Given the description of an element on the screen output the (x, y) to click on. 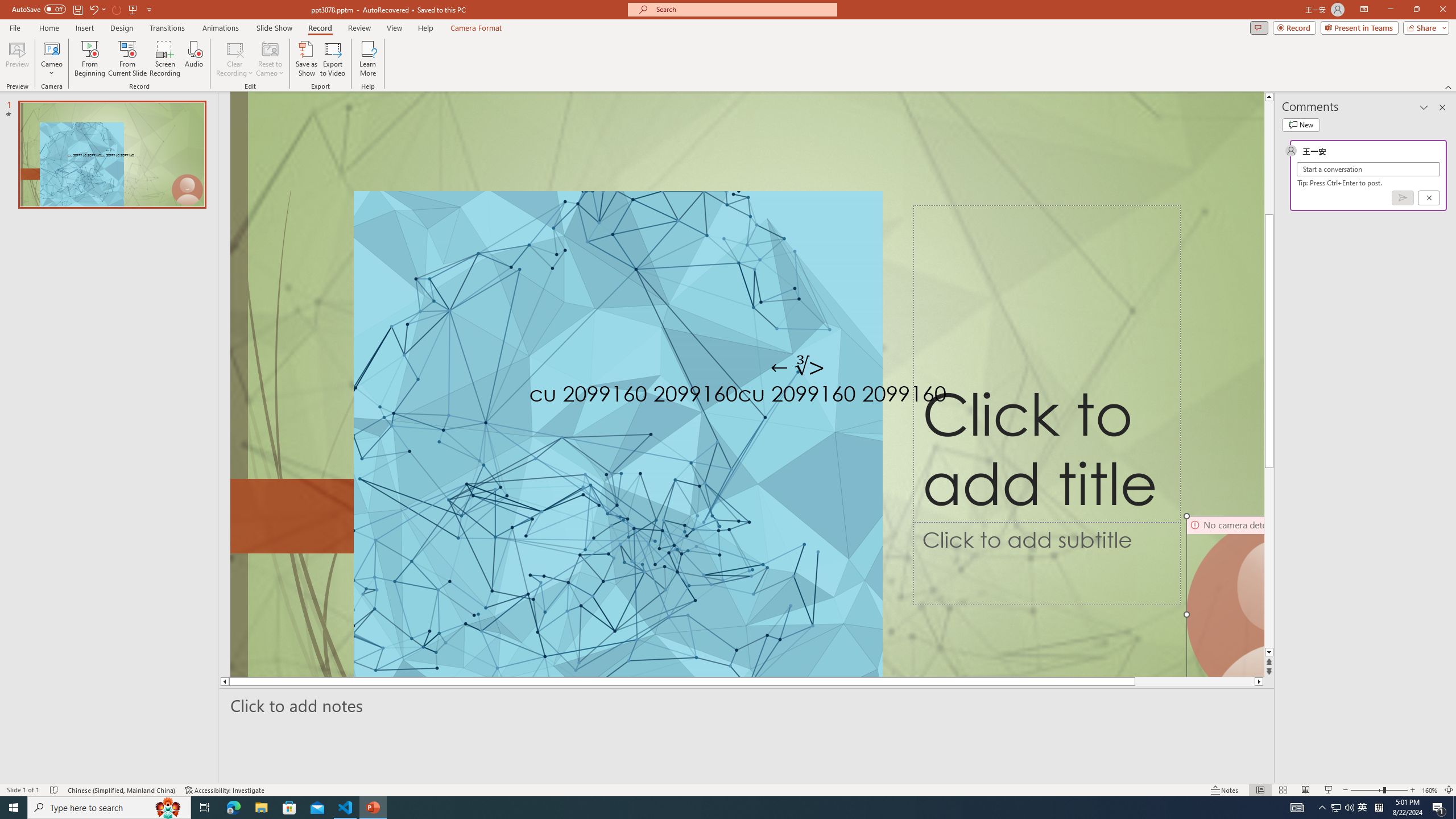
TextBox 61 (807, 396)
Post comment (Ctrl + Enter) (1402, 197)
